Given the description of an element on the screen output the (x, y) to click on. 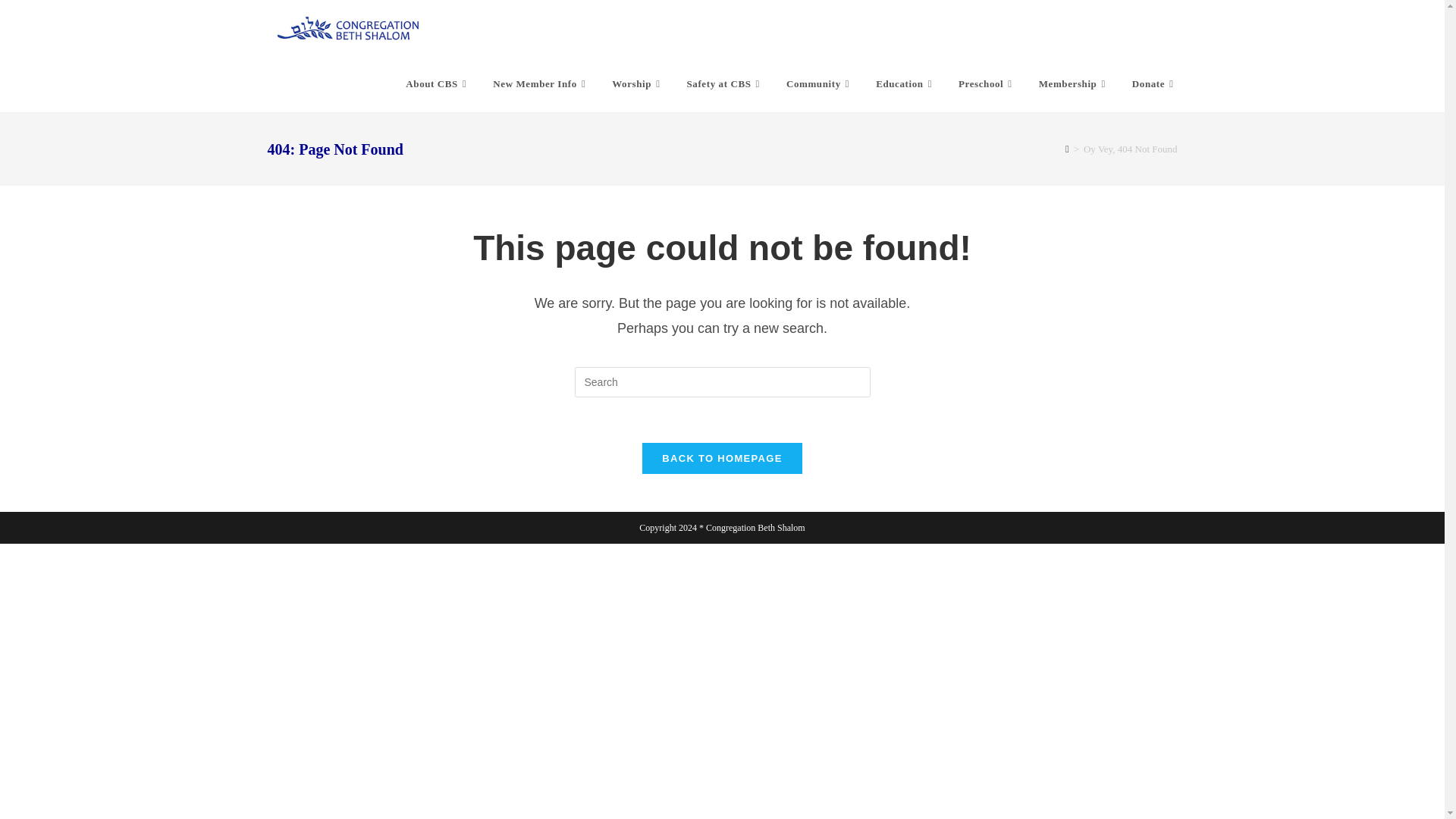
New Member Info (540, 84)
Worship (637, 84)
About CBS (437, 84)
